Given the description of an element on the screen output the (x, y) to click on. 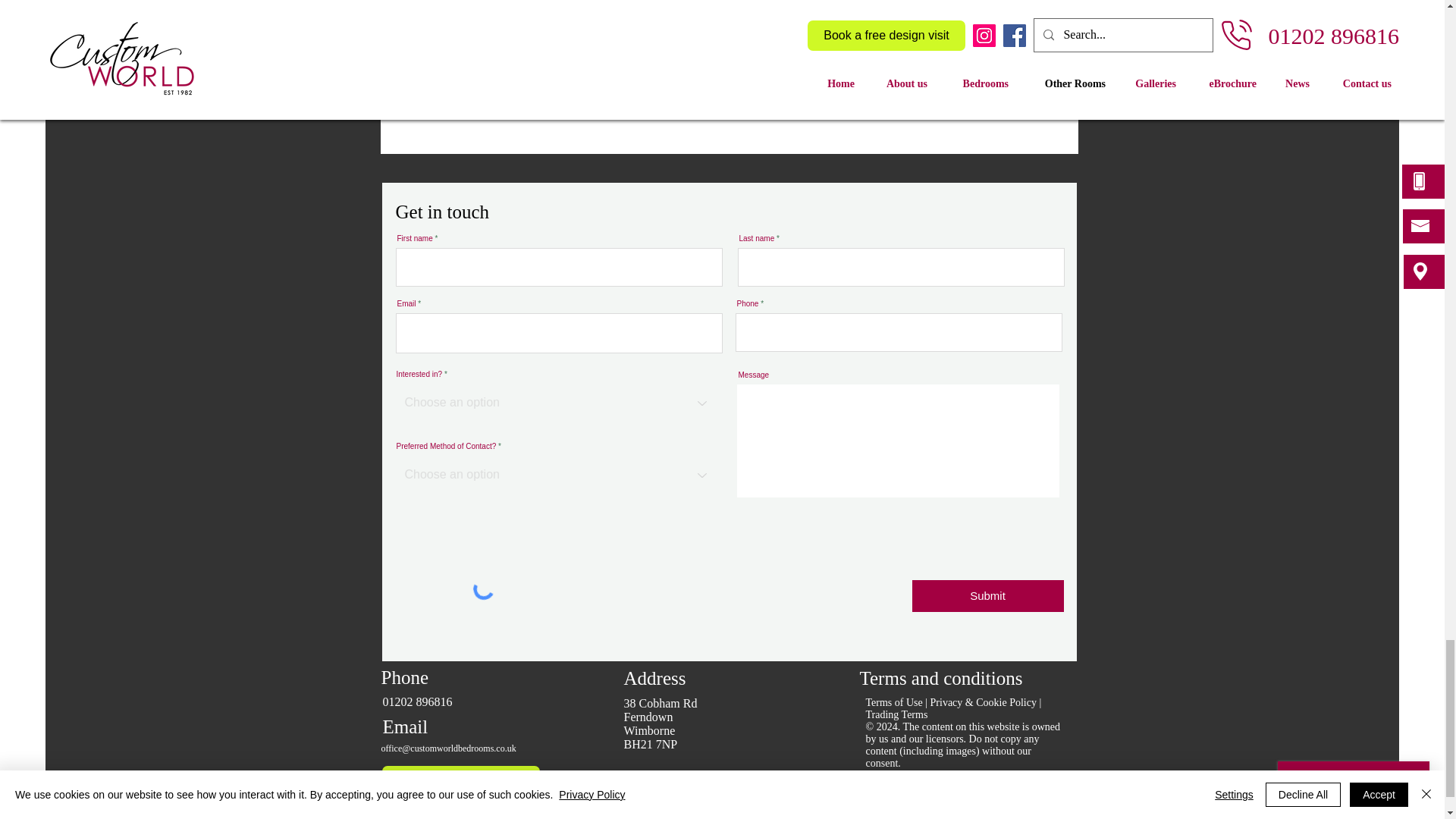
Embedded Content (729, 84)
